Given the description of an element on the screen output the (x, y) to click on. 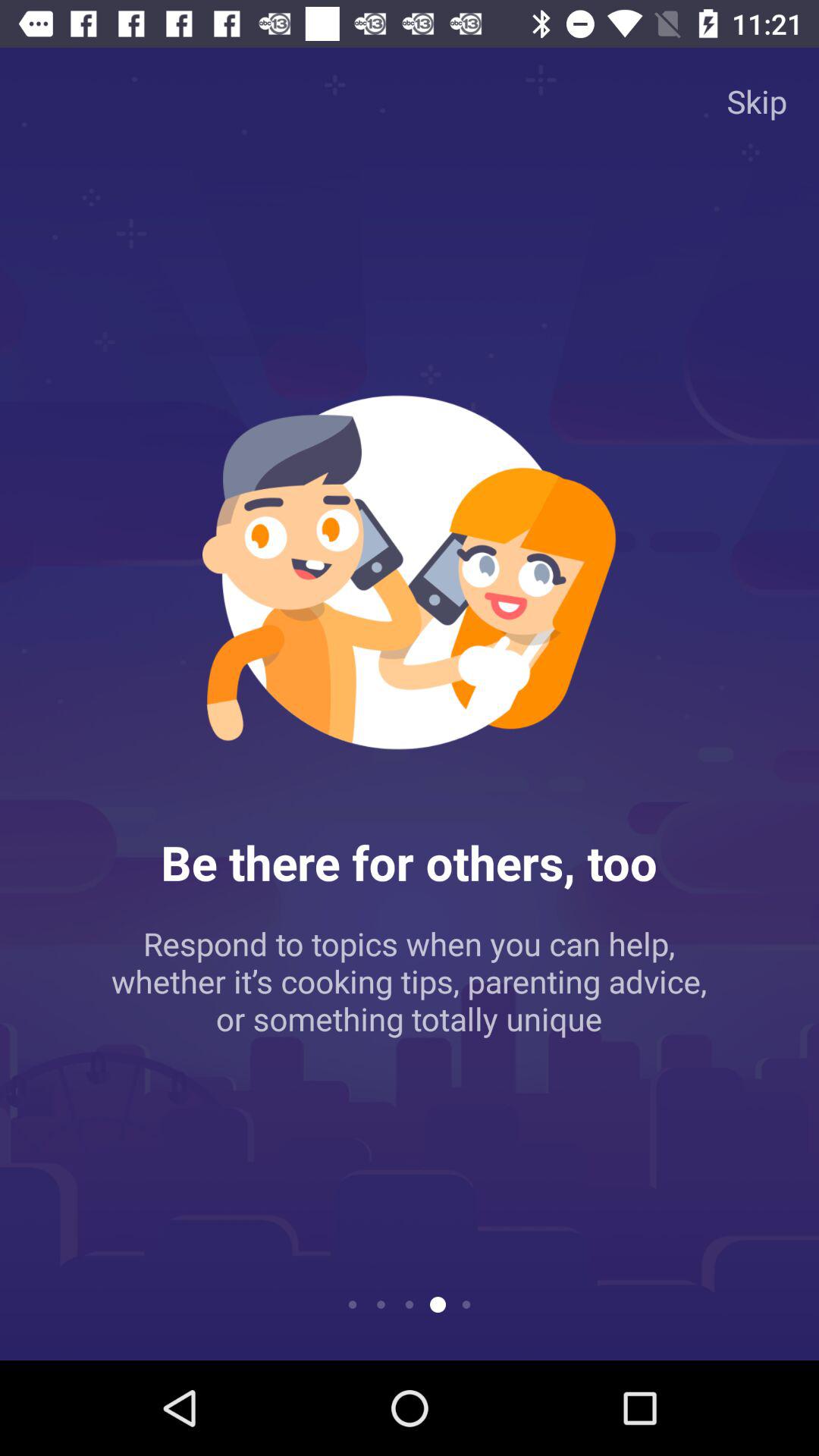
launch the item above the respond to topics icon (756, 100)
